Given the description of an element on the screen output the (x, y) to click on. 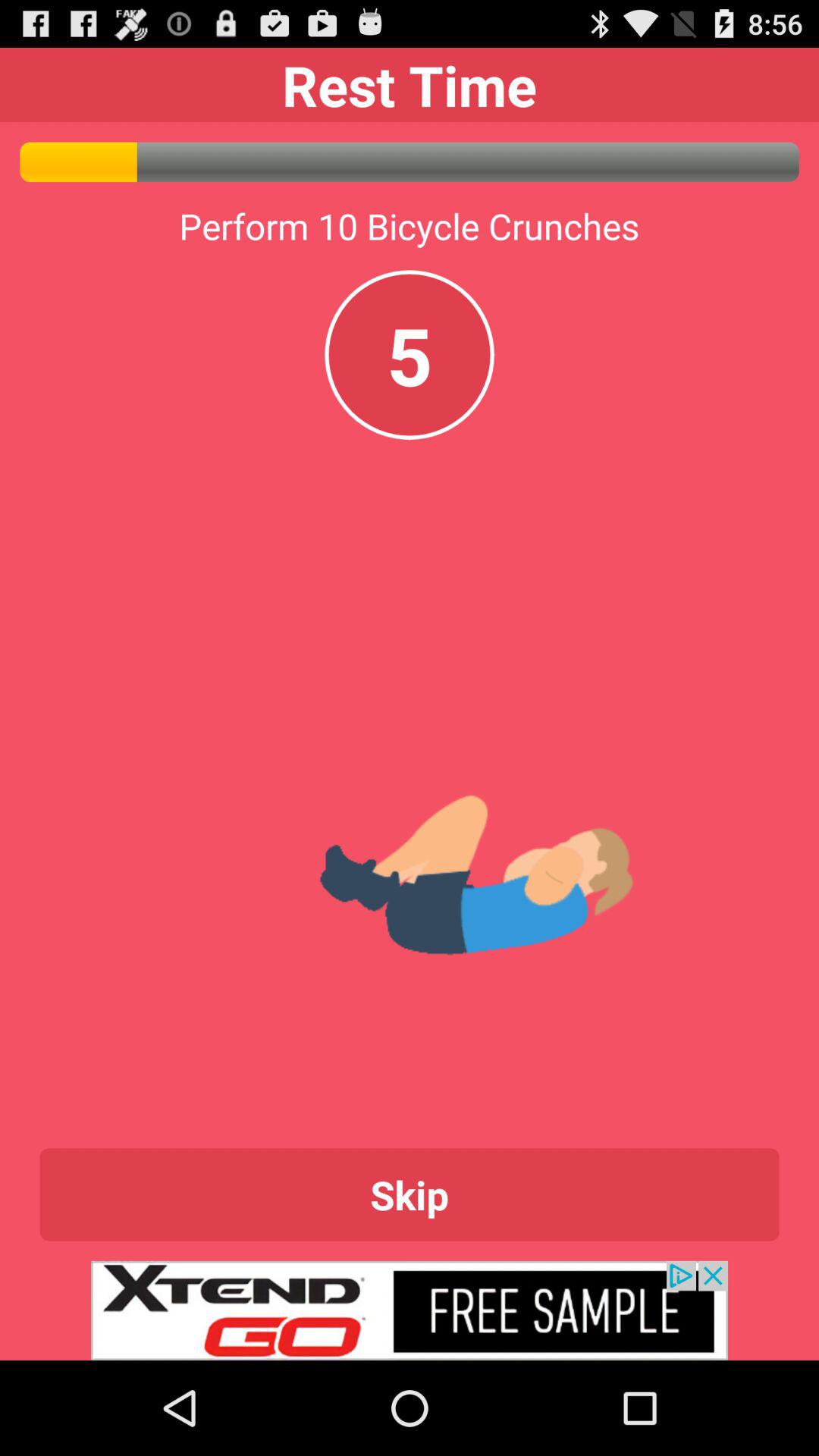
click on xtend go advertisement (409, 1310)
